Given the description of an element on the screen output the (x, y) to click on. 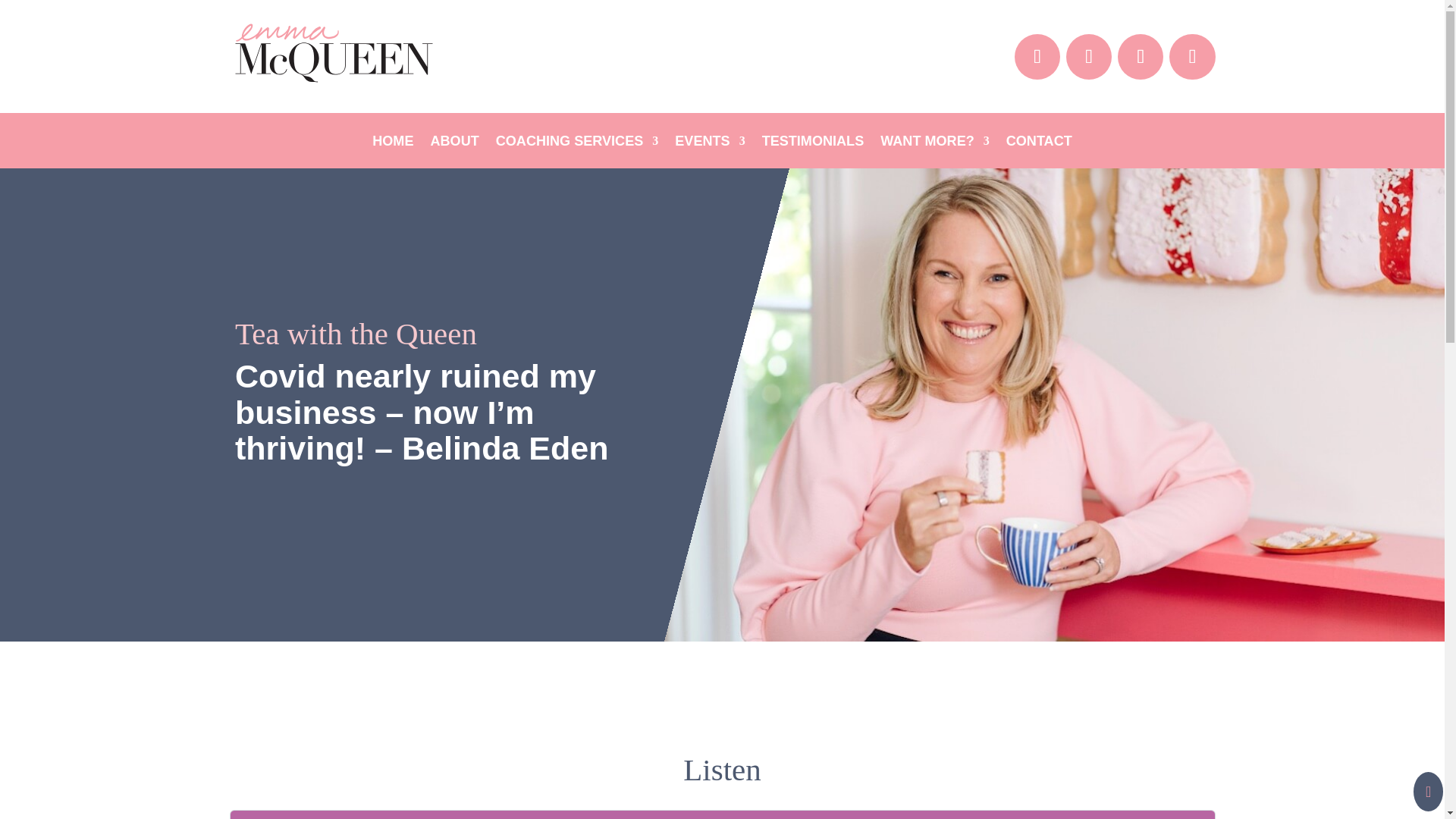
CONTACT (1038, 143)
HOME (392, 143)
logo (333, 53)
COACHING SERVICES (577, 143)
Follow on LinkedIn (1088, 56)
WANT MORE? (935, 143)
TESTIMONIALS (812, 143)
Follow on Instagram (1140, 56)
Follow on X (1191, 56)
ABOUT (454, 143)
